Given the description of an element on the screen output the (x, y) to click on. 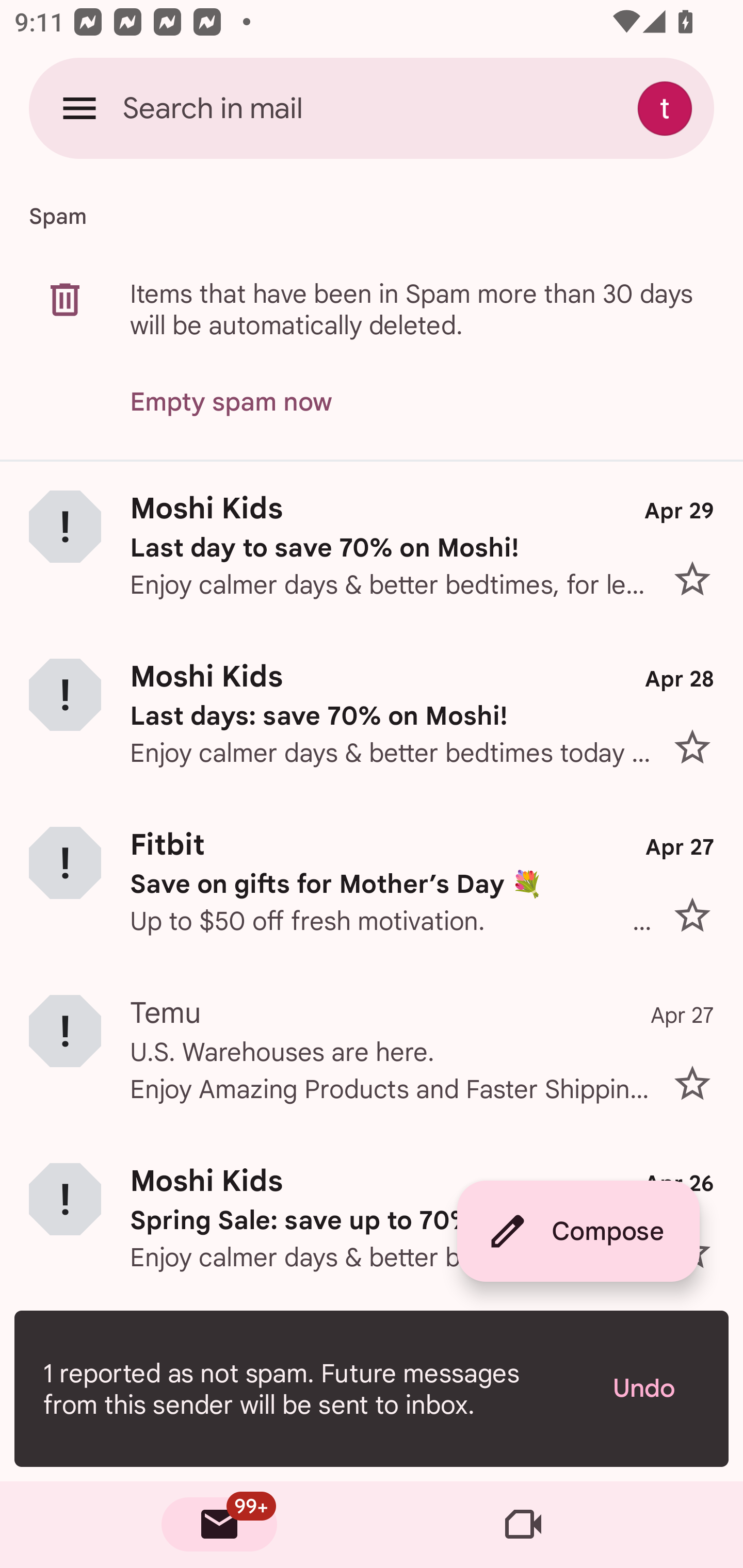
Open navigation drawer (79, 108)
Empty spam now (230, 402)
Compose (577, 1230)
Undo (655, 1388)
Meet (523, 1524)
